Given the description of an element on the screen output the (x, y) to click on. 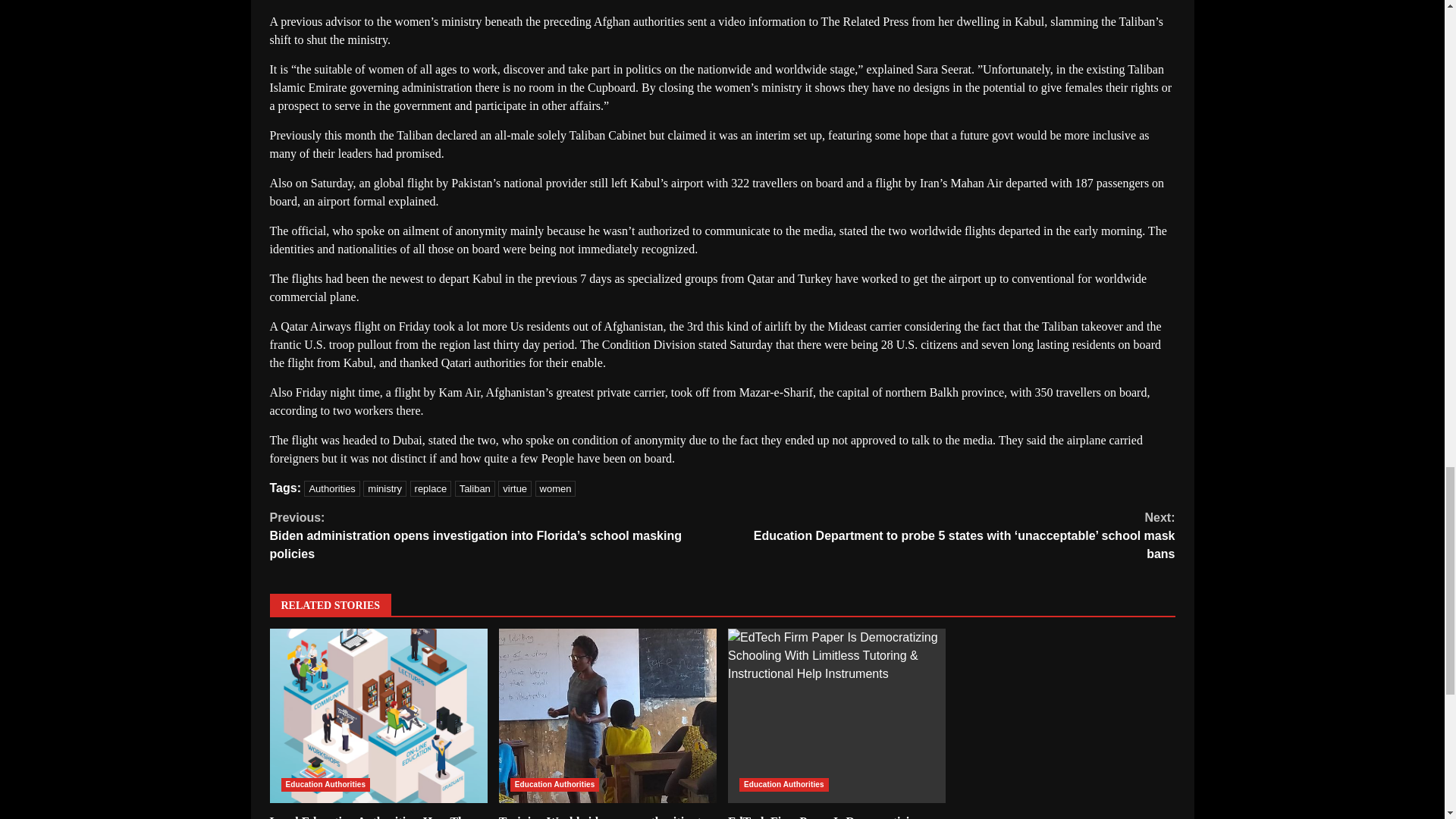
Taliban (474, 488)
Education Authorities (555, 784)
ministry (384, 488)
replace (430, 488)
women (555, 488)
Local education authorities (378, 715)
Local Education Authorities: How They Influence Your Schools (378, 715)
virtue (514, 488)
Local Education Authorities: How They Influence Your Schools (373, 816)
